Given the description of an element on the screen output the (x, y) to click on. 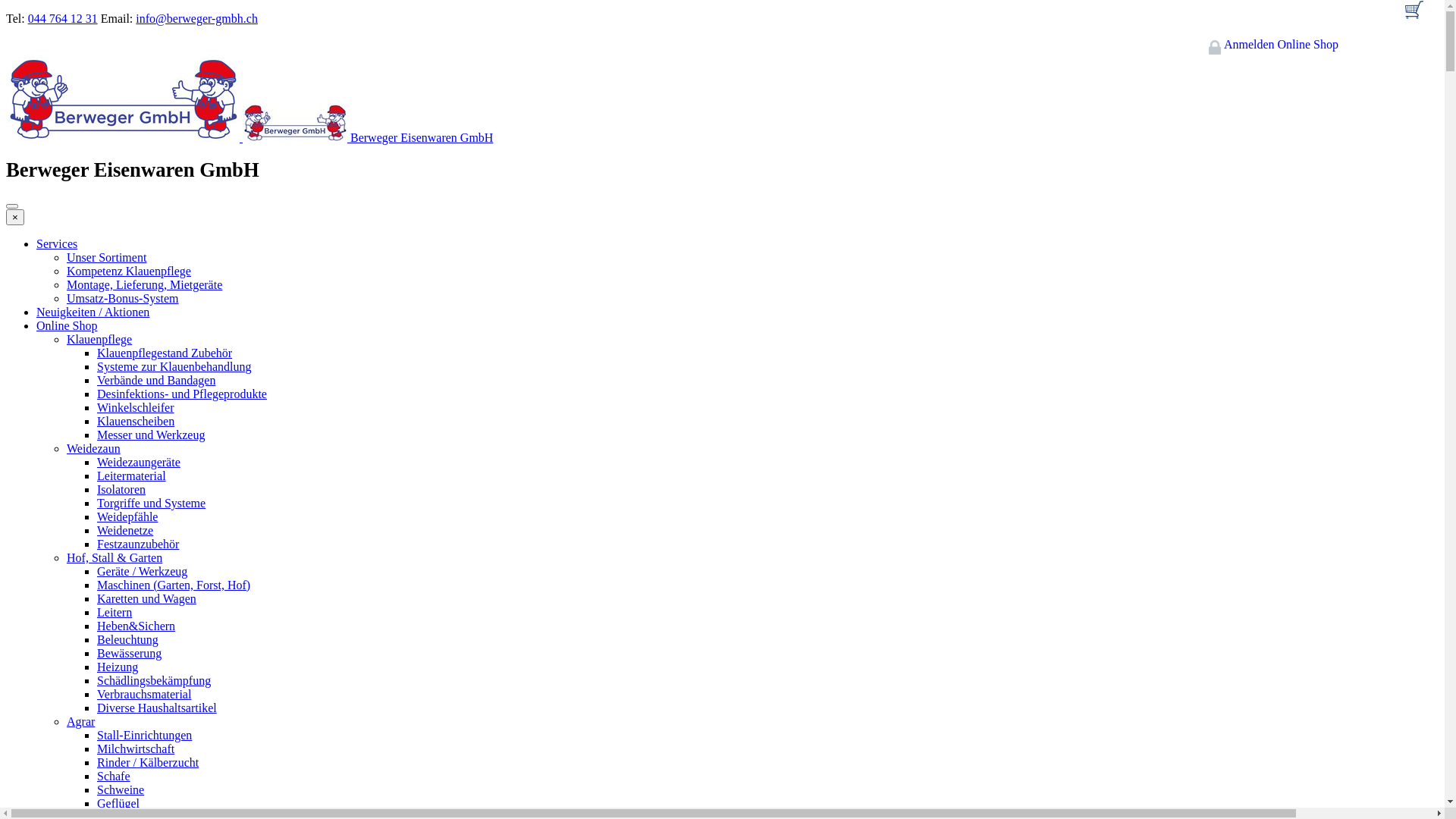
Winkelschleifer Element type: text (135, 407)
Diverse Haushaltsartikel Element type: text (156, 707)
Messer und Werkzeug Element type: text (150, 434)
Stall-Einrichtungen Element type: text (144, 734)
Verbrauchsmaterial Element type: text (144, 693)
Kompetenz Klauenpflege Element type: text (128, 270)
Unser Sortiment Element type: text (106, 257)
Leitern Element type: text (114, 611)
Beleuchtung Element type: text (127, 639)
Leitermaterial Element type: text (131, 475)
Desinfektions- und Pflegeprodukte Element type: text (181, 393)
Torgriffe und Systeme Element type: text (151, 502)
044 764 12 31 Element type: text (62, 18)
Isolatoren Element type: text (121, 489)
Weidenetze Element type: text (125, 530)
Karetten und Wagen Element type: text (146, 598)
Weidezaun Element type: text (93, 448)
Berweger Eisenwaren GmbH Element type: text (249, 137)
Online Shop Element type: text (66, 325)
Neuigkeiten / Aktionen Element type: text (92, 311)
Schafe Element type: text (113, 775)
Milchwirtschaft Element type: text (135, 748)
Schweine Element type: text (120, 789)
Umsatz-Bonus-System Element type: text (122, 297)
Hof, Stall & Garten Element type: text (114, 557)
Maschinen (Garten, Forst, Hof) Element type: text (173, 584)
Systeme zur Klauenbehandlung Element type: text (174, 366)
Agrar Element type: text (80, 721)
  Element type: text (1414, 16)
Klauenpflege Element type: text (98, 338)
Klauenscheiben Element type: text (135, 420)
Heizung Element type: text (117, 666)
Services Element type: text (56, 243)
Heben&Sichern Element type: text (136, 625)
